Given the description of an element on the screen output the (x, y) to click on. 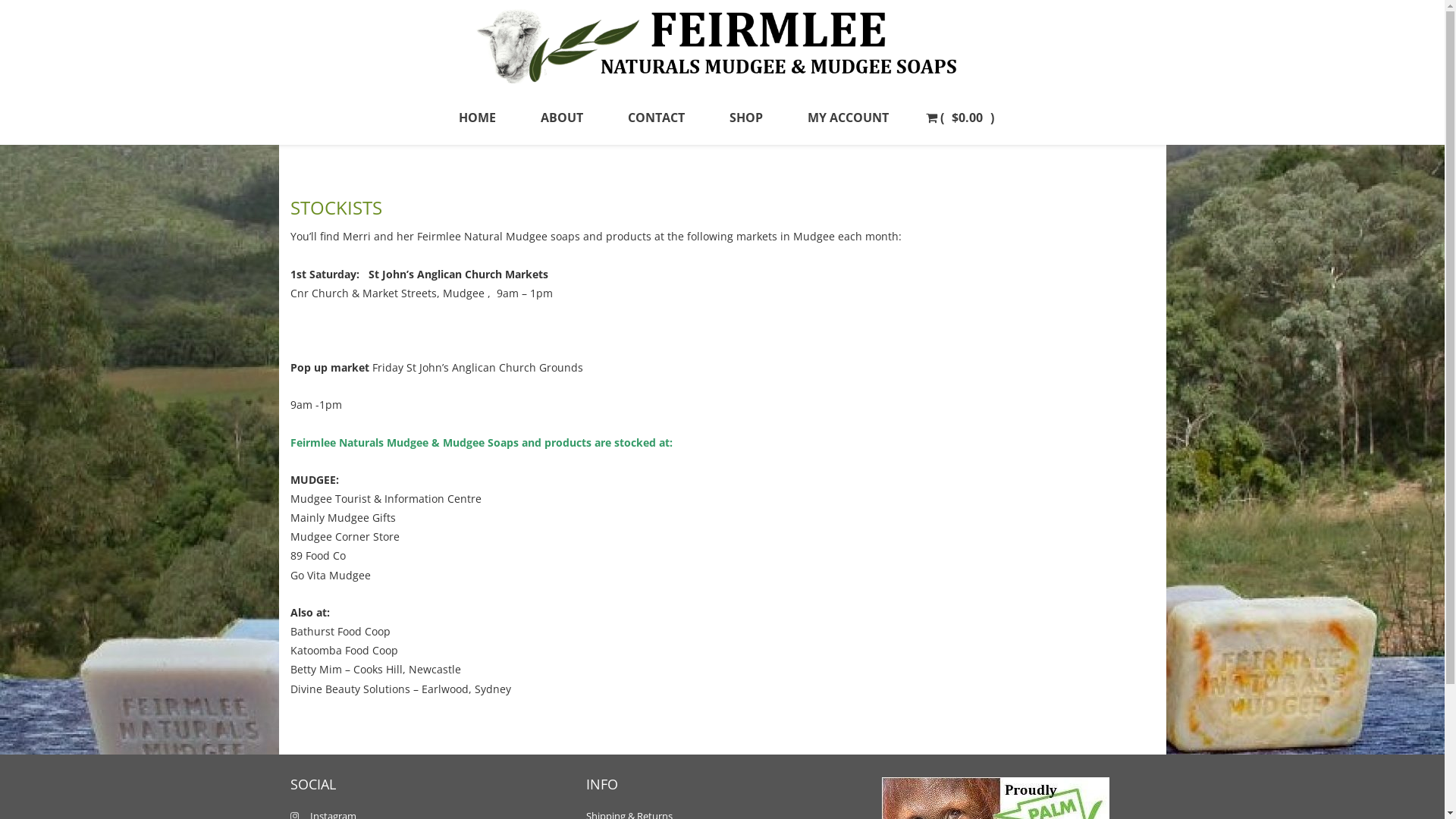
($0.00) Element type: text (959, 117)
SHOP Element type: text (745, 117)
ABOUT Element type: text (560, 117)
CONTACT Element type: text (656, 117)
MY ACCOUNT Element type: text (847, 117)
HOME Element type: text (476, 117)
